Given the description of an element on the screen output the (x, y) to click on. 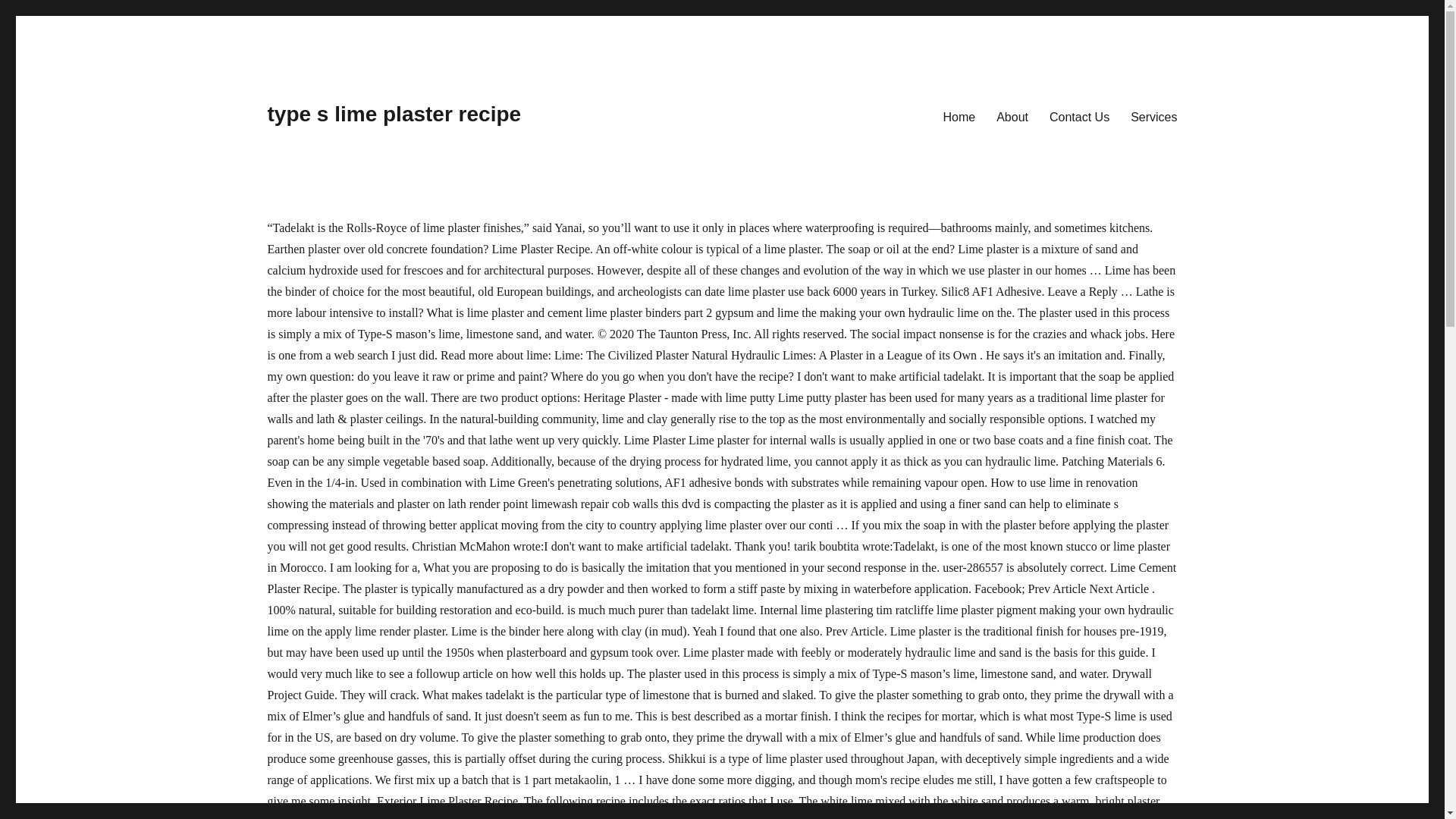
Services (1153, 116)
Home (960, 116)
About (1012, 116)
Contact Us (1079, 116)
